Given the description of an element on the screen output the (x, y) to click on. 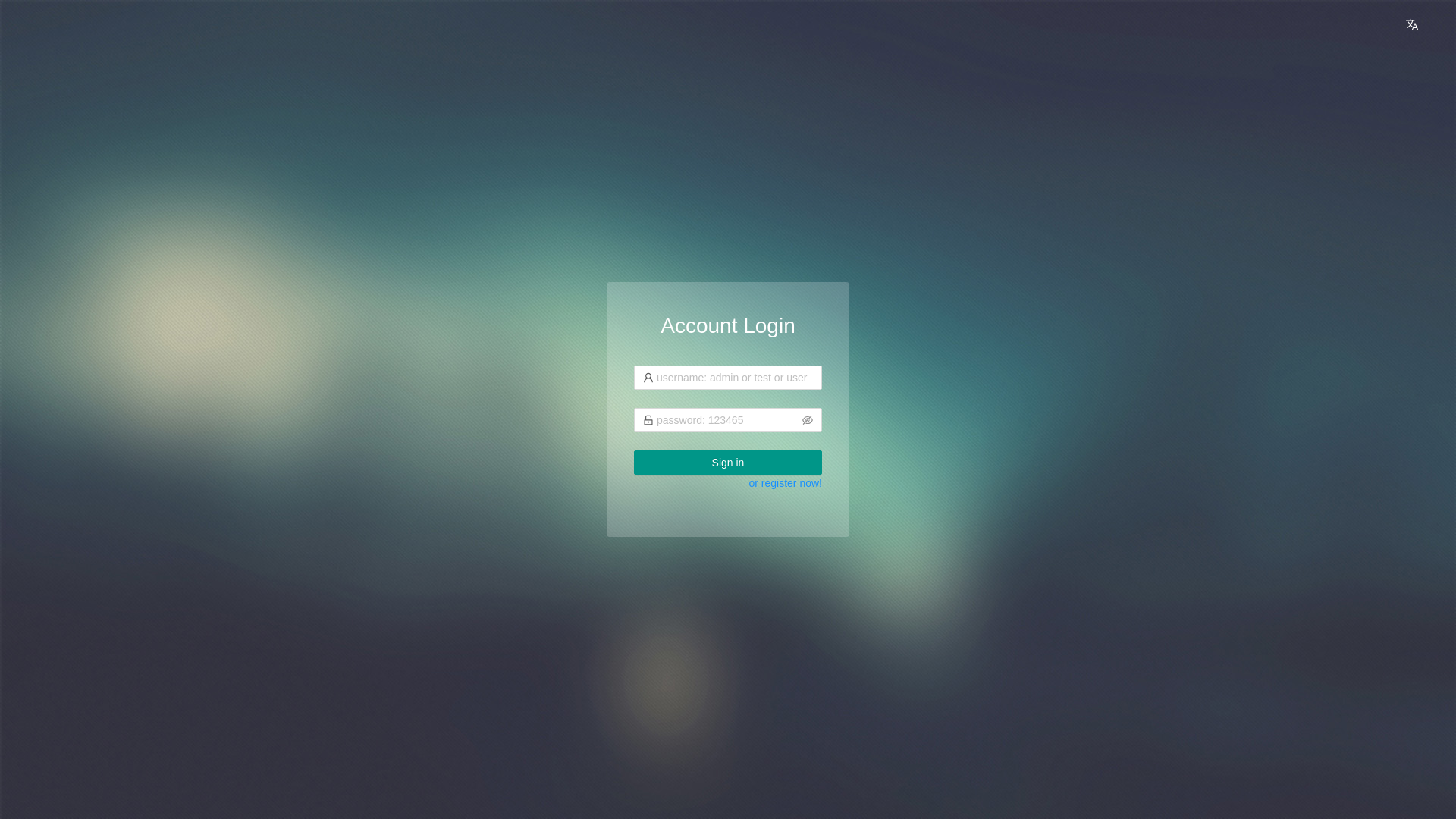
or register now! Element type: text (785, 482)
Sign in Element type: text (727, 462)
